Given the description of an element on the screen output the (x, y) to click on. 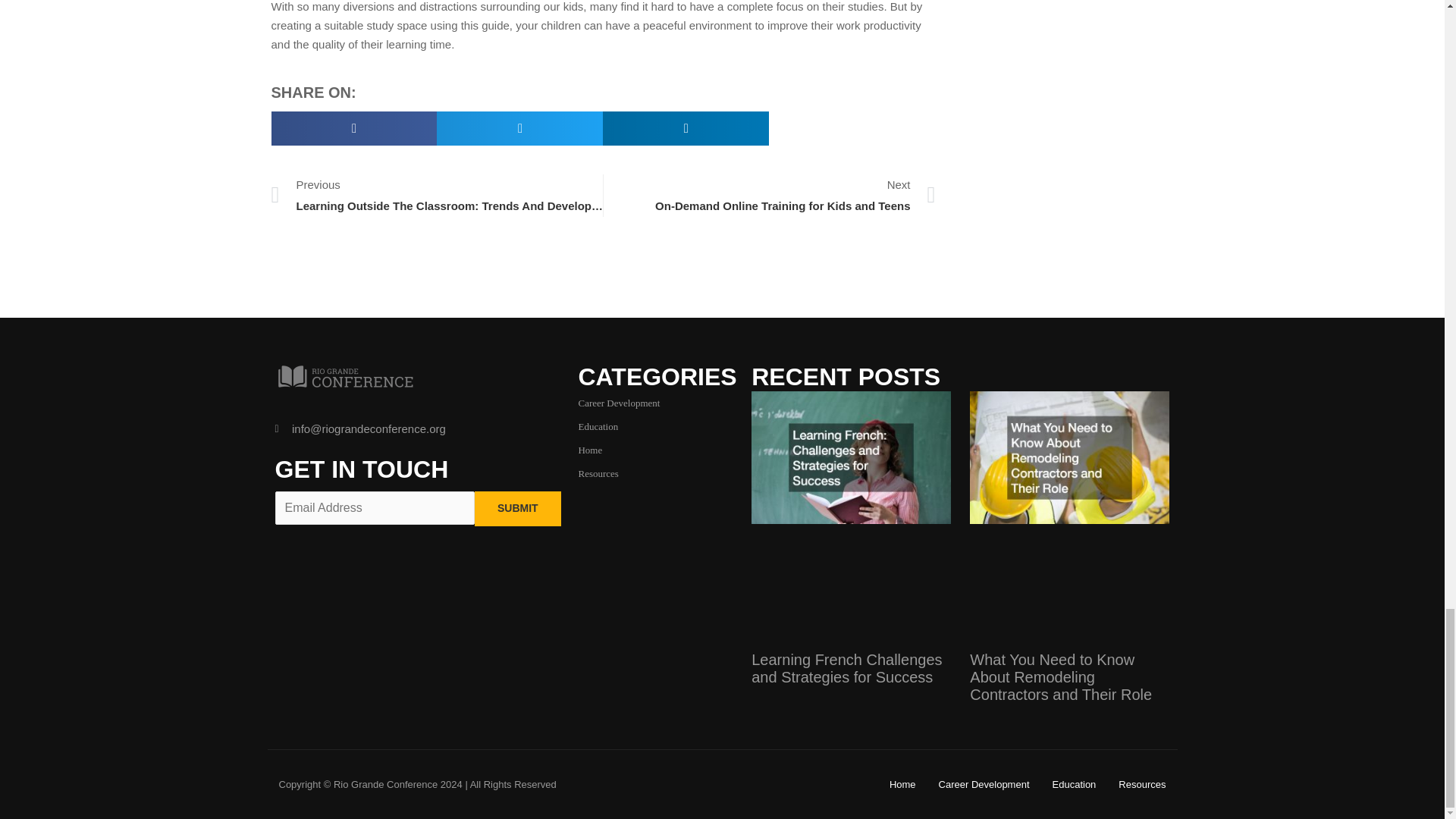
Resources (597, 473)
Education (597, 426)
Home (590, 449)
Submit (517, 508)
riograndeconference-logo (344, 377)
Career Development (769, 195)
Submit (618, 402)
